Given the description of an element on the screen output the (x, y) to click on. 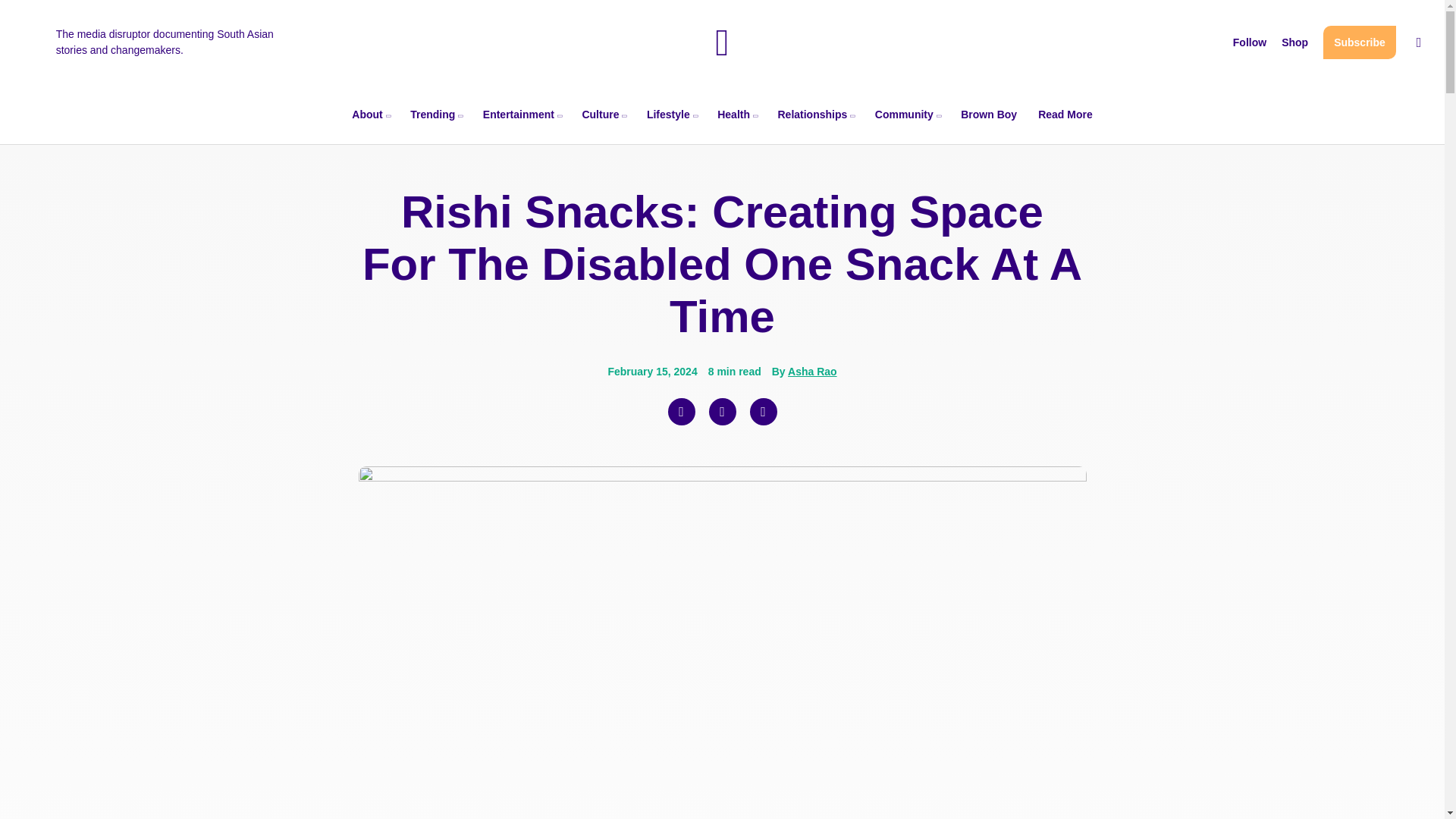
Share on Twitter (721, 411)
Share via Email (762, 411)
Share on FaceBook (680, 411)
